Given the description of an element on the screen output the (x, y) to click on. 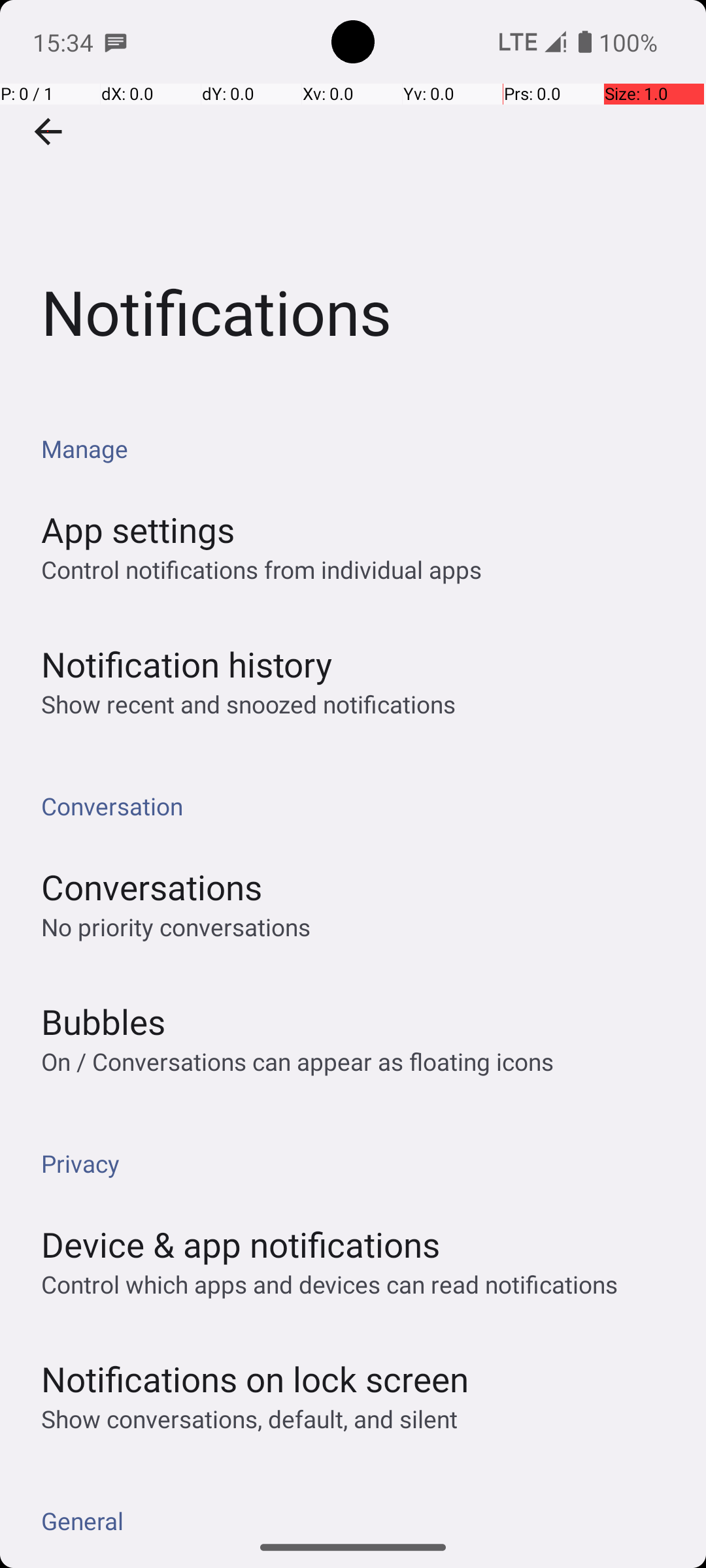
Show conversations, default, and silent Element type: android.widget.TextView (249, 1418)
